Given the description of an element on the screen output the (x, y) to click on. 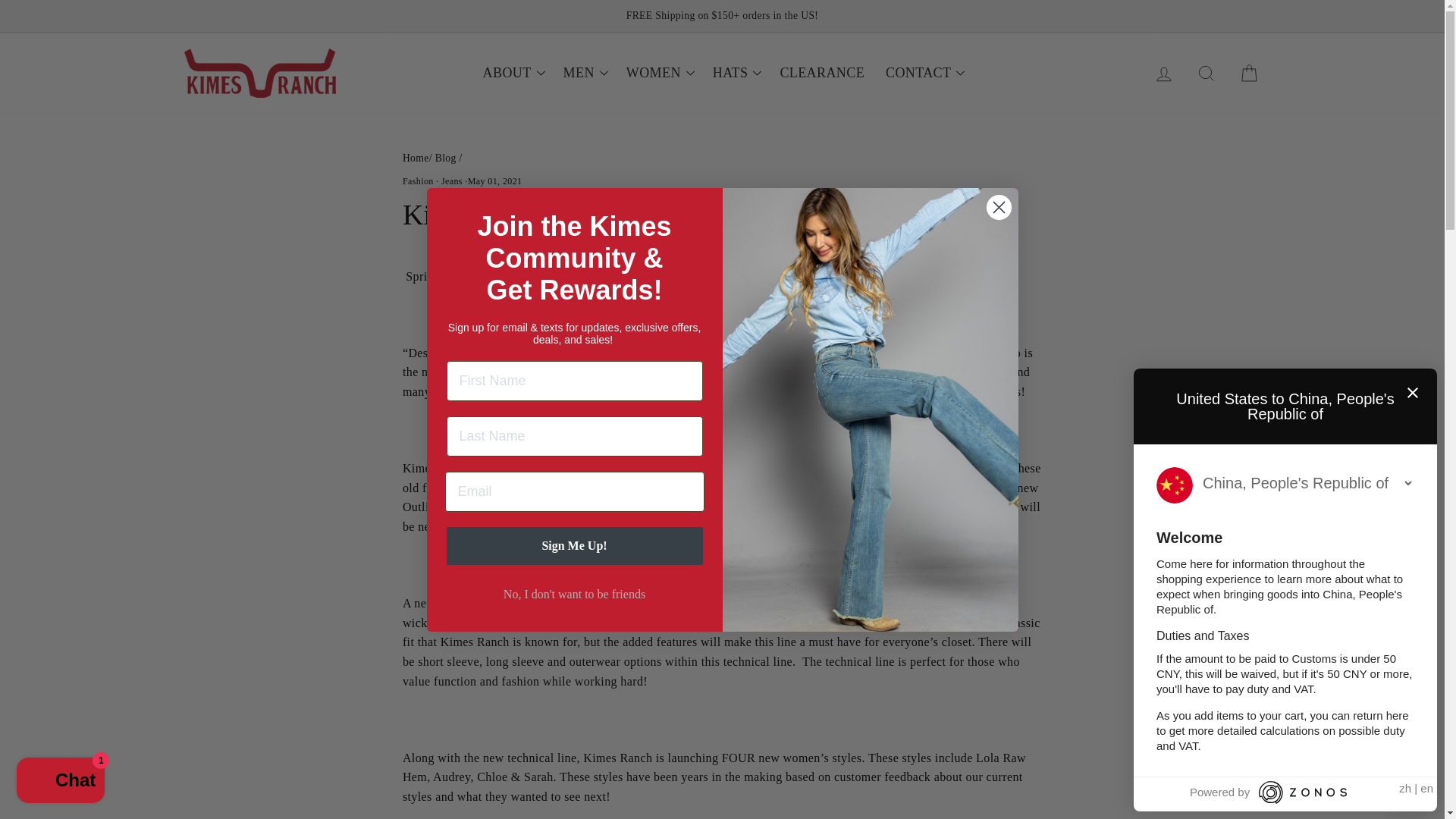
Back to the frontpage (416, 157)
